Given the description of an element on the screen output the (x, y) to click on. 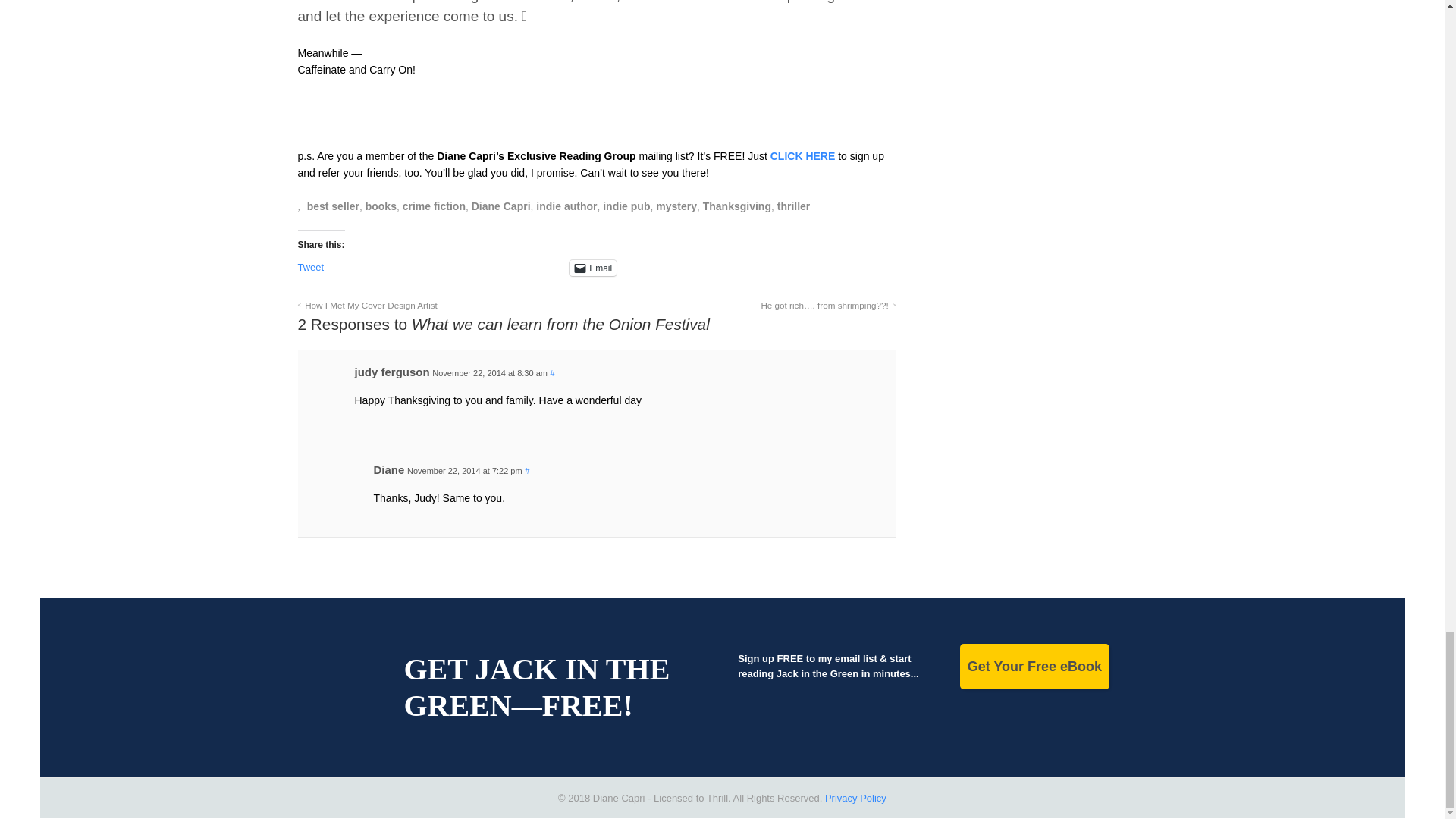
Diane Capri Books (878, 1)
Click to email a link to a friend (592, 268)
Capri Crowd list (802, 155)
